Given the description of an element on the screen output the (x, y) to click on. 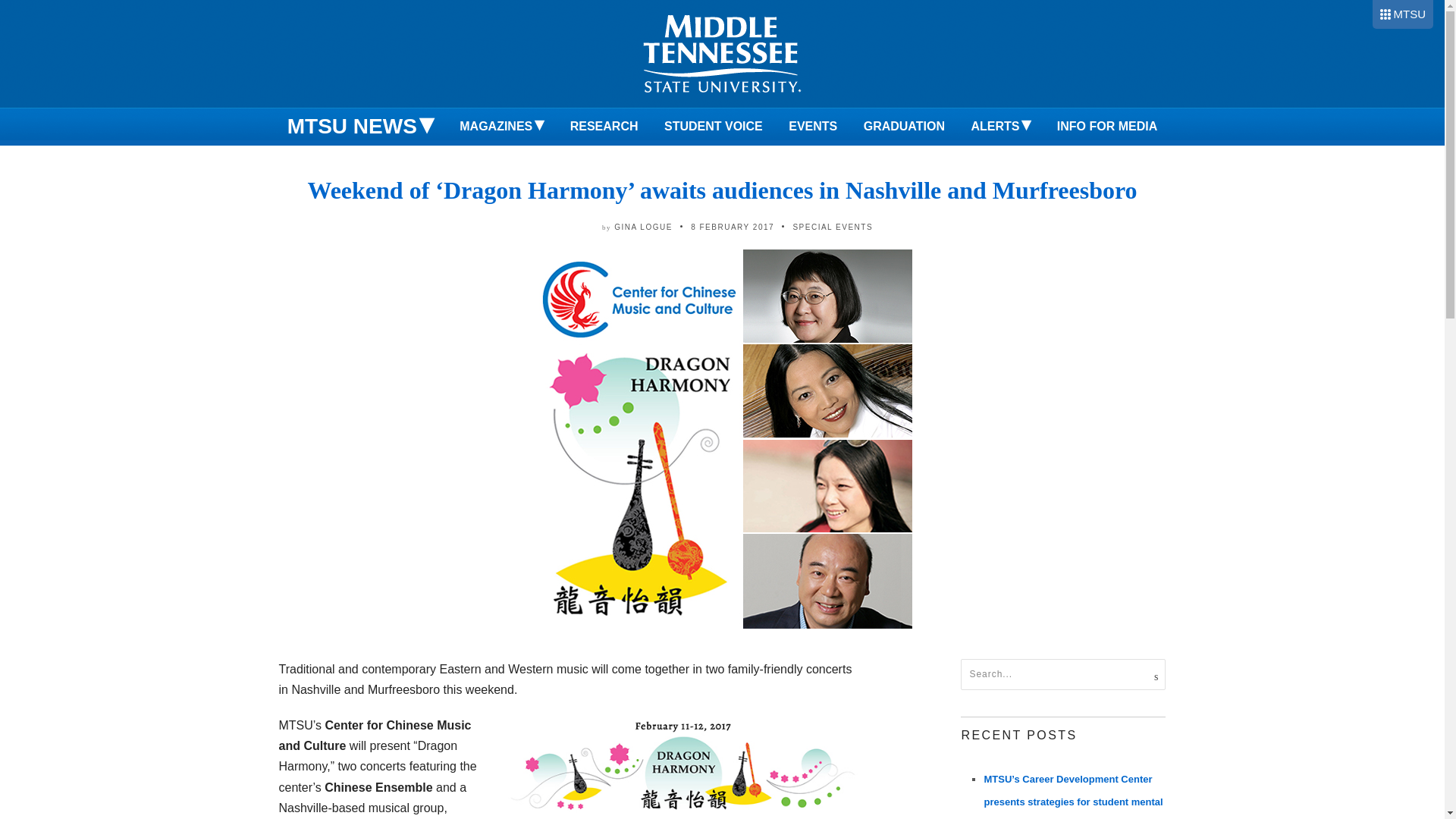
Posts by Gina Logue (643, 226)
February 8, 2017 9:58 (732, 226)
